Given the description of an element on the screen output the (x, y) to click on. 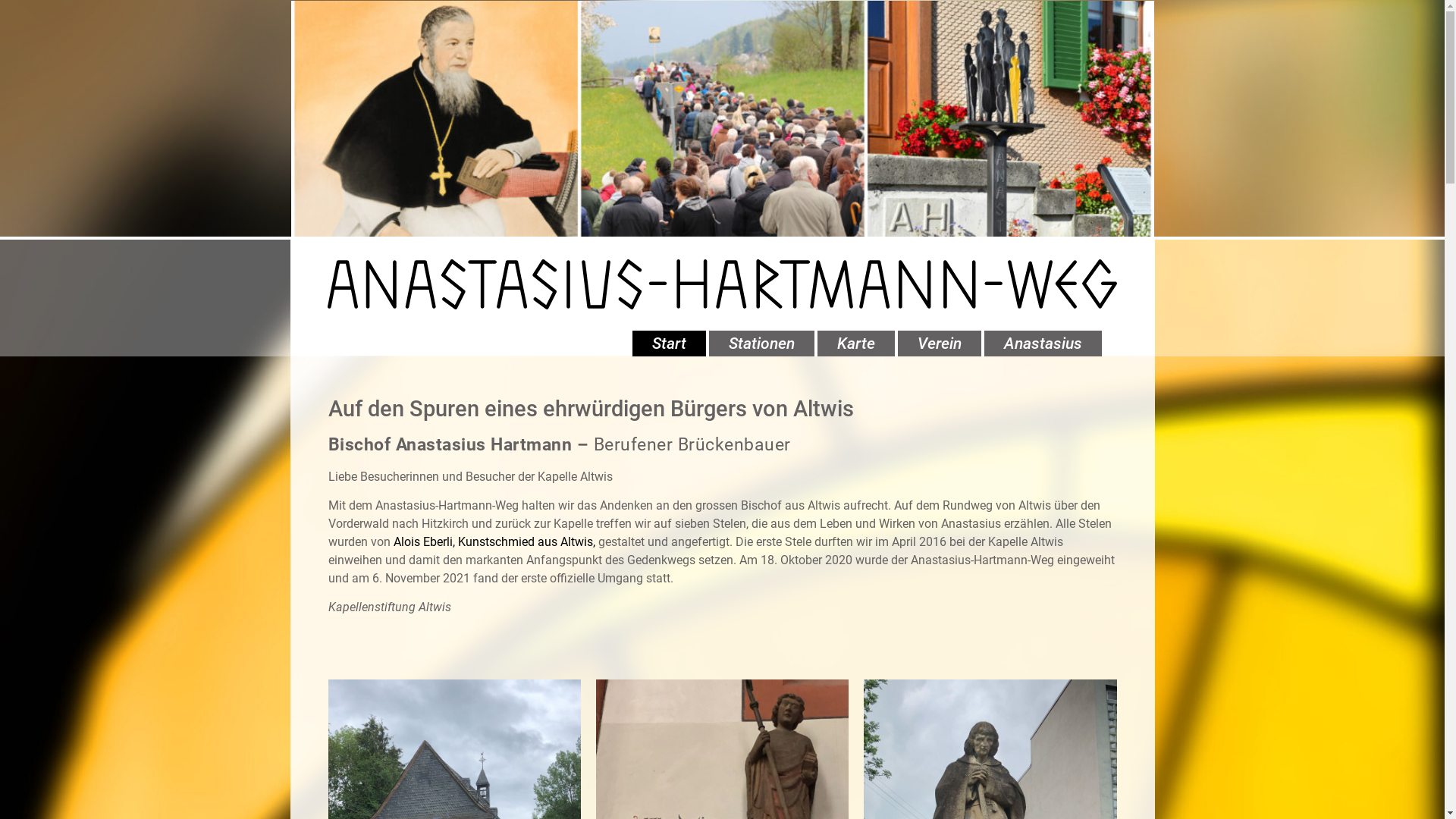
Verein Element type: text (939, 343)
Start Element type: text (669, 343)
anastasius-hartmann-weg Element type: hover (722, 284)
Stationen Element type: text (760, 343)
Karte Element type: text (855, 343)
Anastasius Element type: text (1042, 343)
Alois Eberli, Kunstschmied aus Altwis, Element type: text (493, 541)
